Given the description of an element on the screen output the (x, y) to click on. 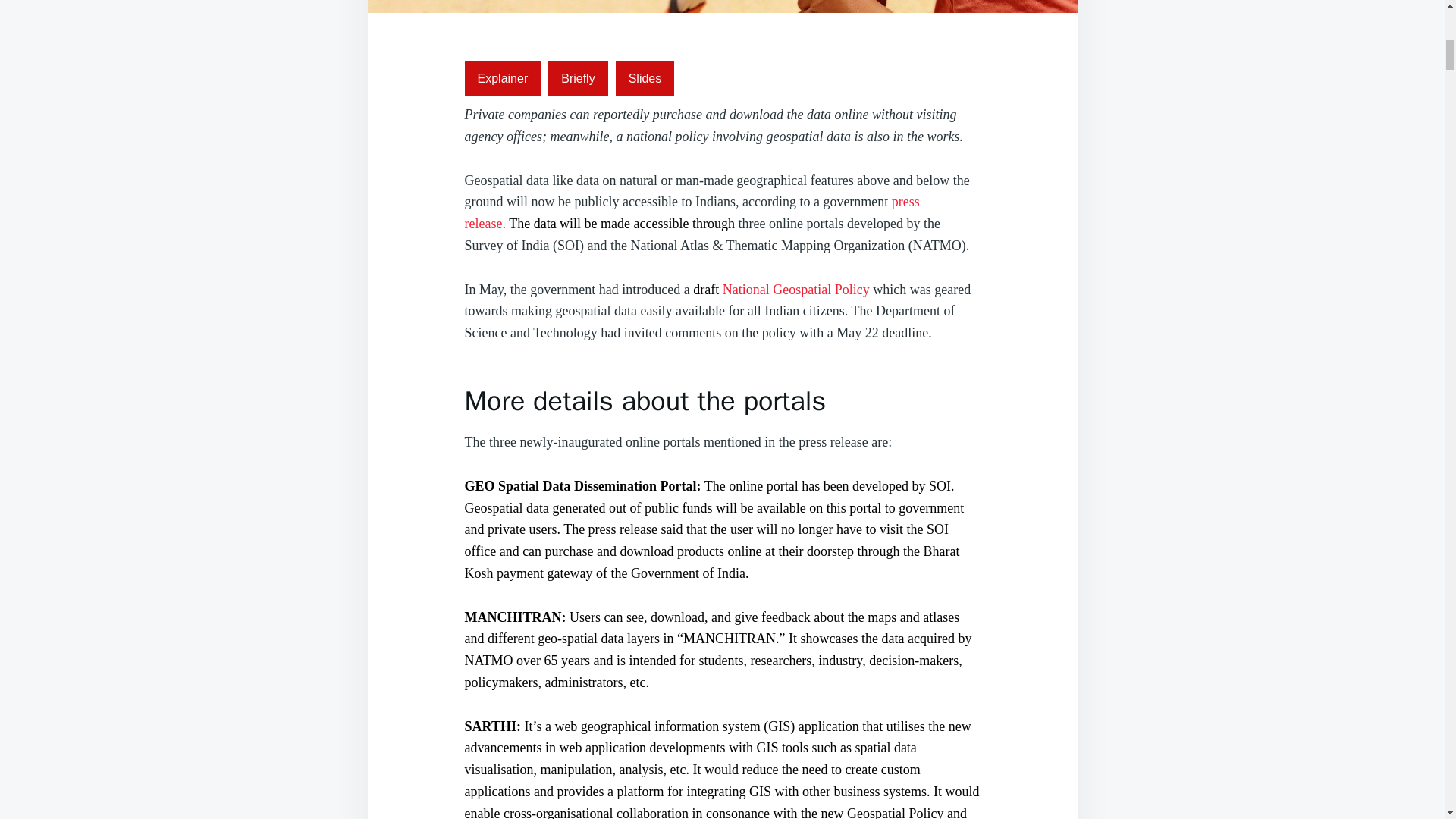
Explainer (502, 78)
Briefly (577, 78)
press release (691, 212)
National Geospatial Policy (795, 289)
Slides (645, 78)
